Given the description of an element on the screen output the (x, y) to click on. 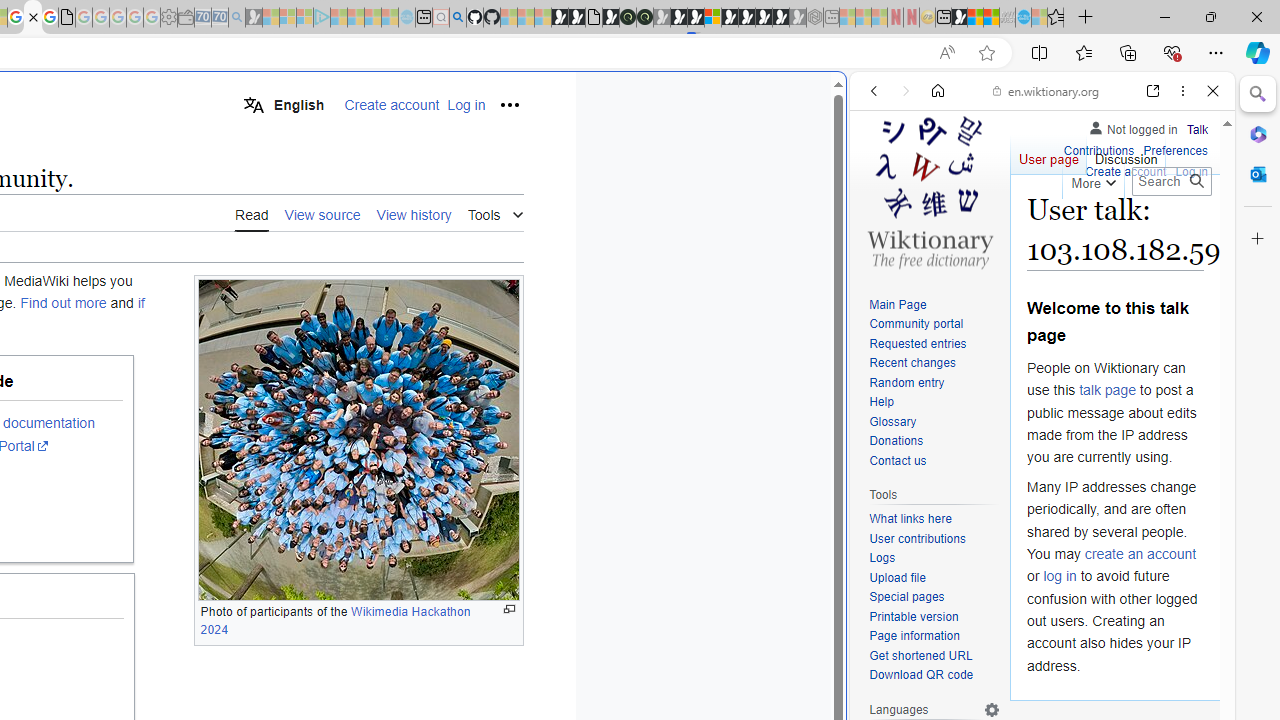
Talk (1197, 129)
Future Focus Report 2024 (644, 17)
Recent changes (912, 362)
